Given the description of an element on the screen output the (x, y) to click on. 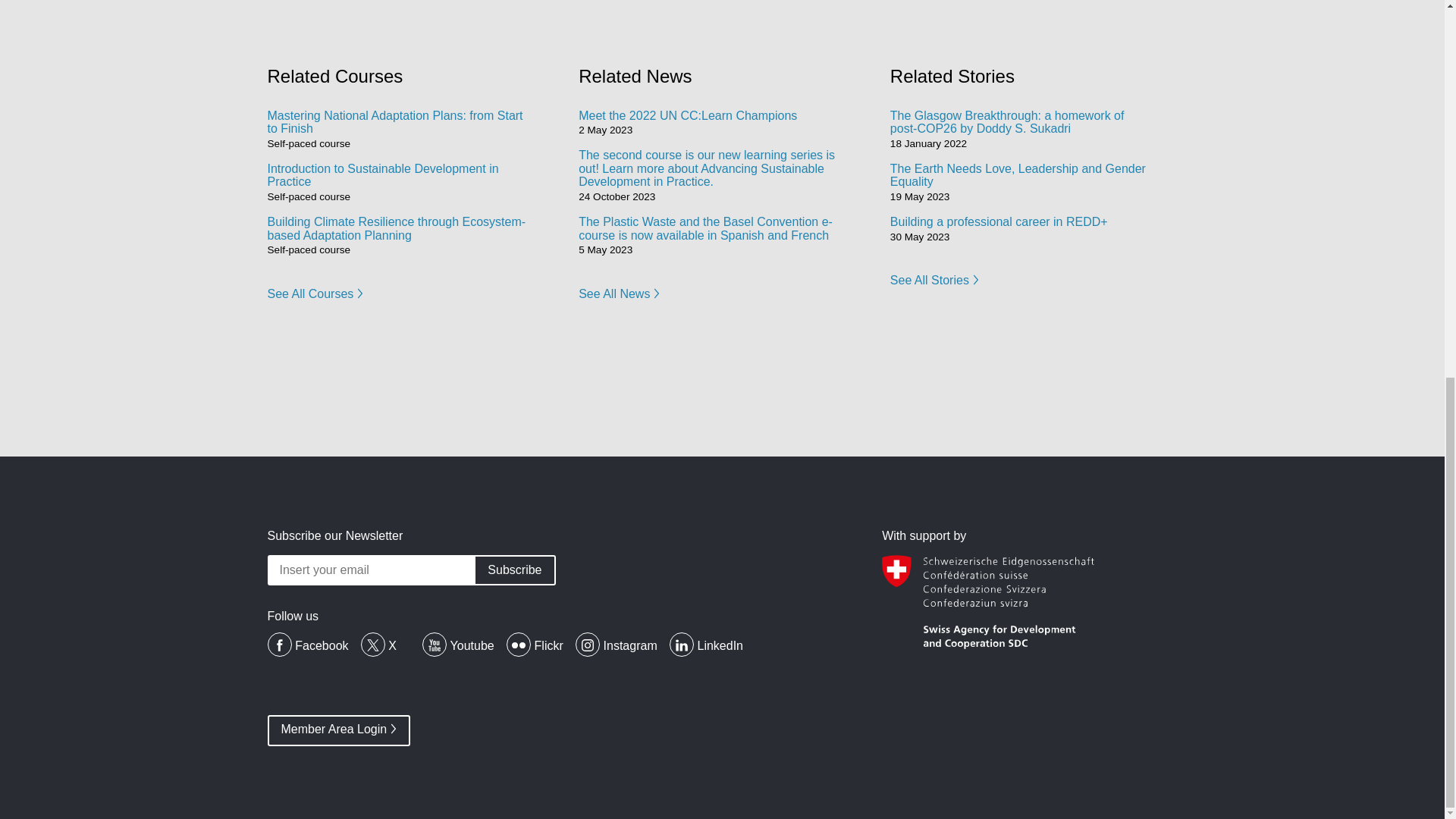
Mastering National Adaptation Plans: from Start to Finish (394, 121)
Meet the 2022 UN CC:Learn Champions (687, 115)
Introduction to Sustainable Development in Practice (381, 175)
See All News (618, 295)
The Earth Needs Love, Leadership and Gender Equality (1017, 175)
See All Courses (314, 295)
Subscribe (514, 570)
